Given the description of an element on the screen output the (x, y) to click on. 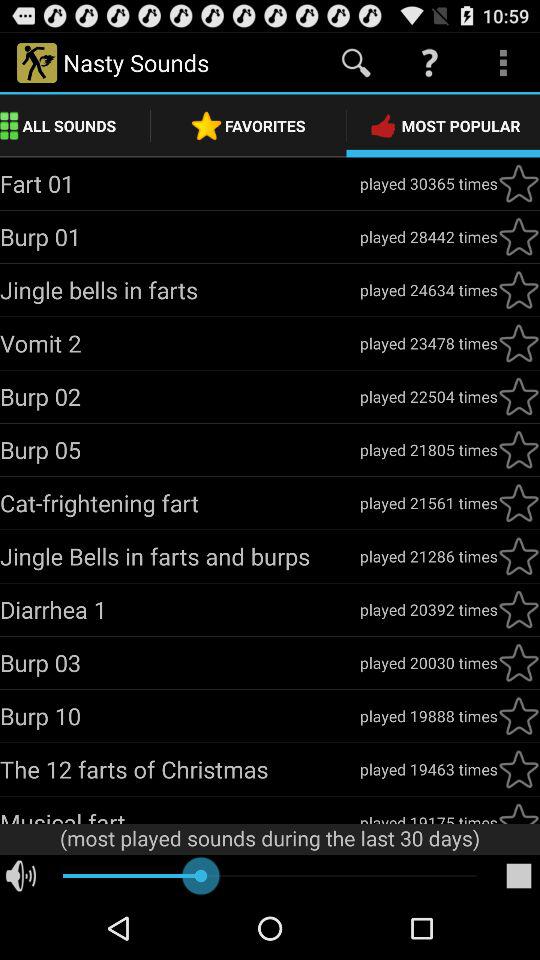
click your favorites (519, 450)
